Given the description of an element on the screen output the (x, y) to click on. 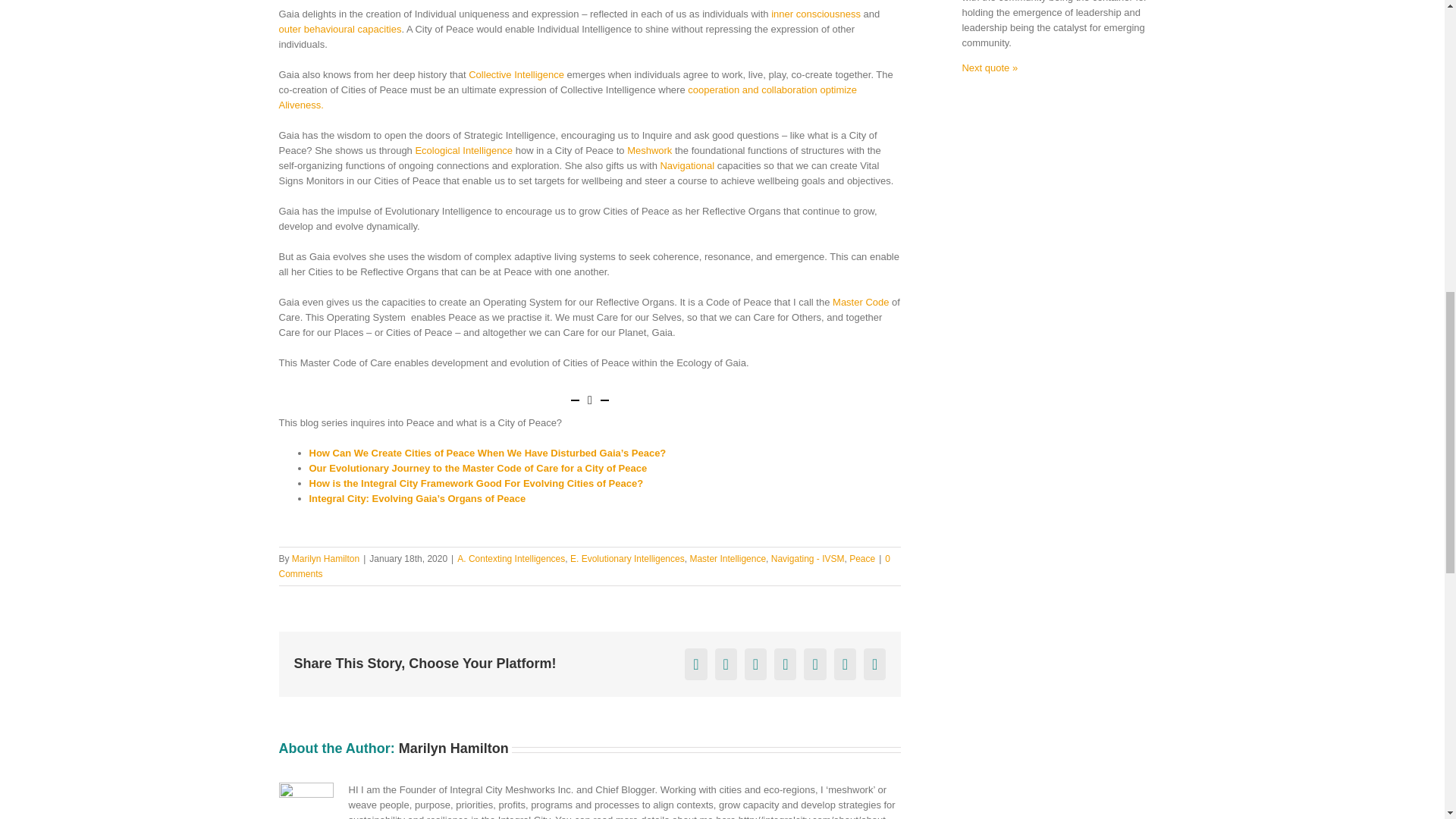
Posts by Marilyn Hamilton (325, 558)
Posts by Marilyn Hamilton (453, 748)
